Given the description of an element on the screen output the (x, y) to click on. 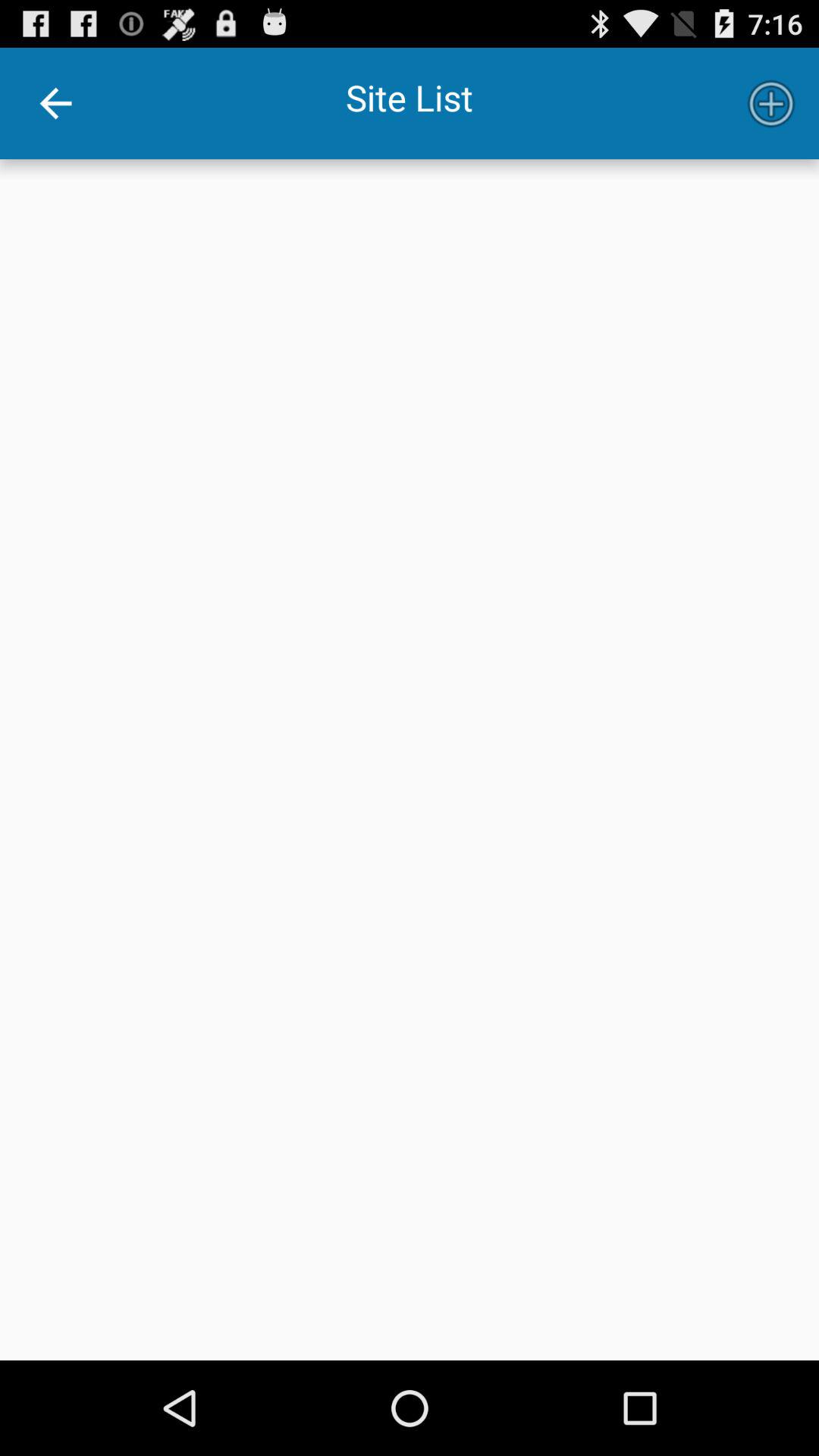
turn off item at the top left corner (55, 103)
